Given the description of an element on the screen output the (x, y) to click on. 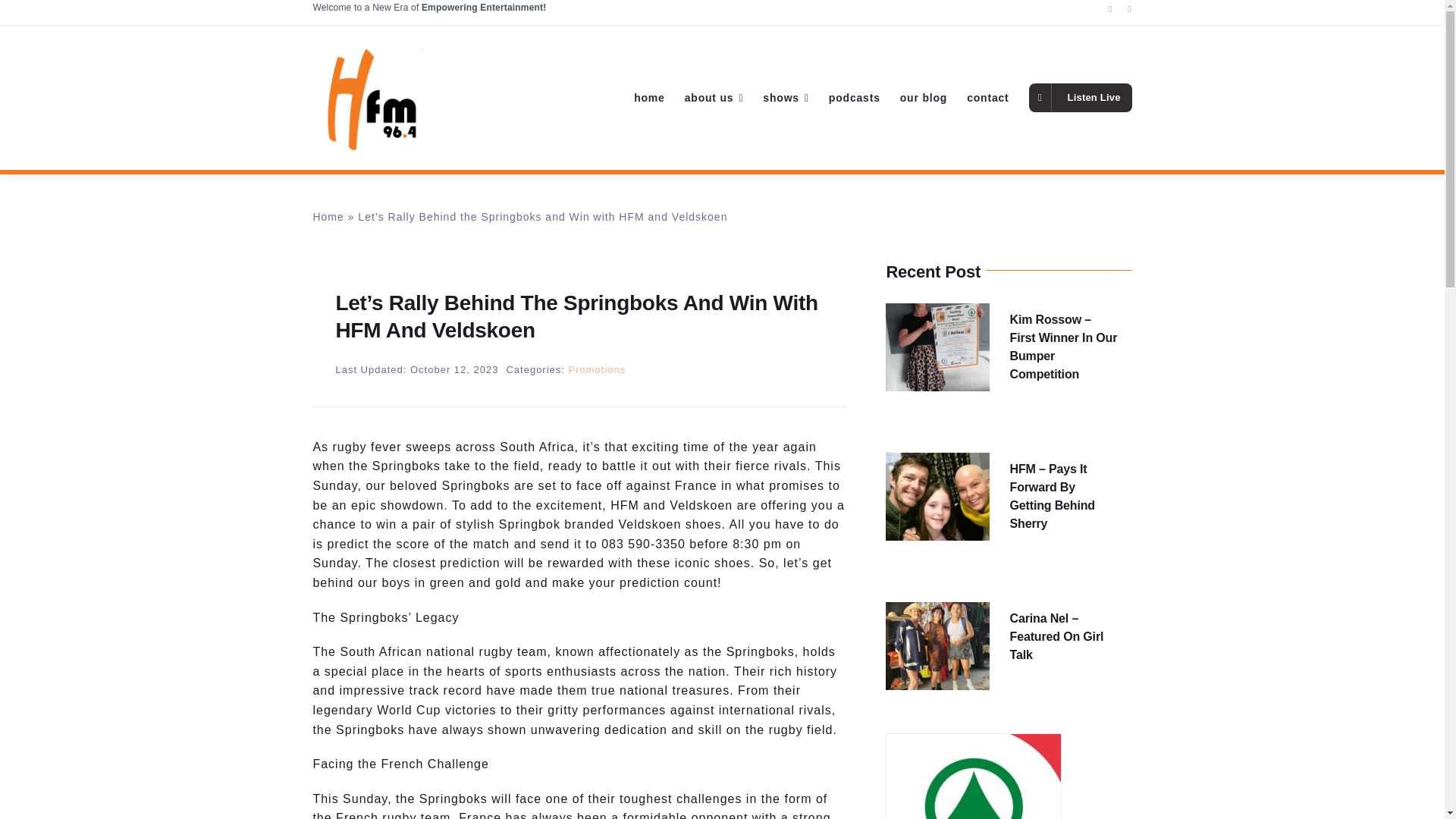
home (649, 97)
Listen Live (1080, 97)
Home (328, 216)
Instagram (1128, 8)
our blog (923, 97)
podcasts (854, 97)
Promotions (597, 369)
contact (987, 97)
shows (785, 97)
Facebook (1110, 8)
about us (714, 97)
